Given the description of an element on the screen output the (x, y) to click on. 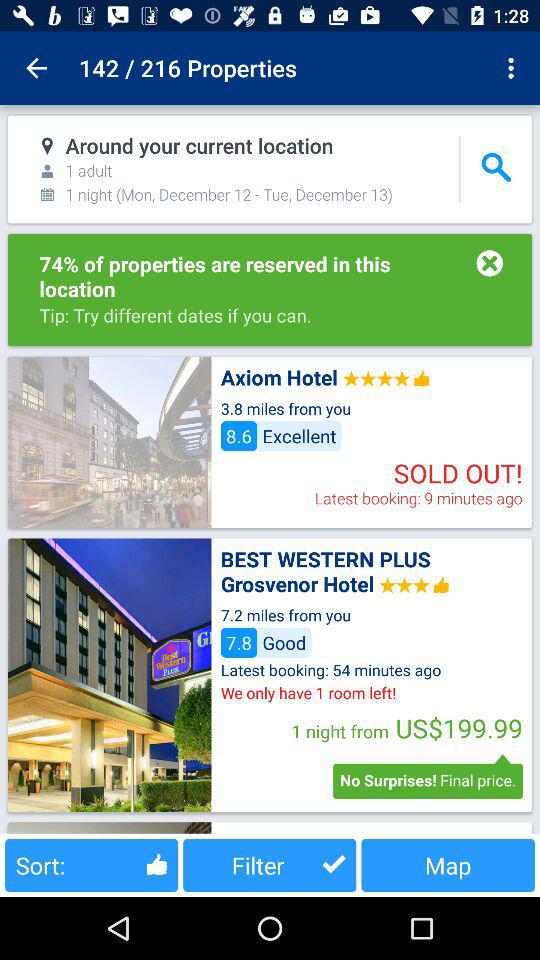
launch the icon to the left of the filter item (91, 864)
